Given the description of an element on the screen output the (x, y) to click on. 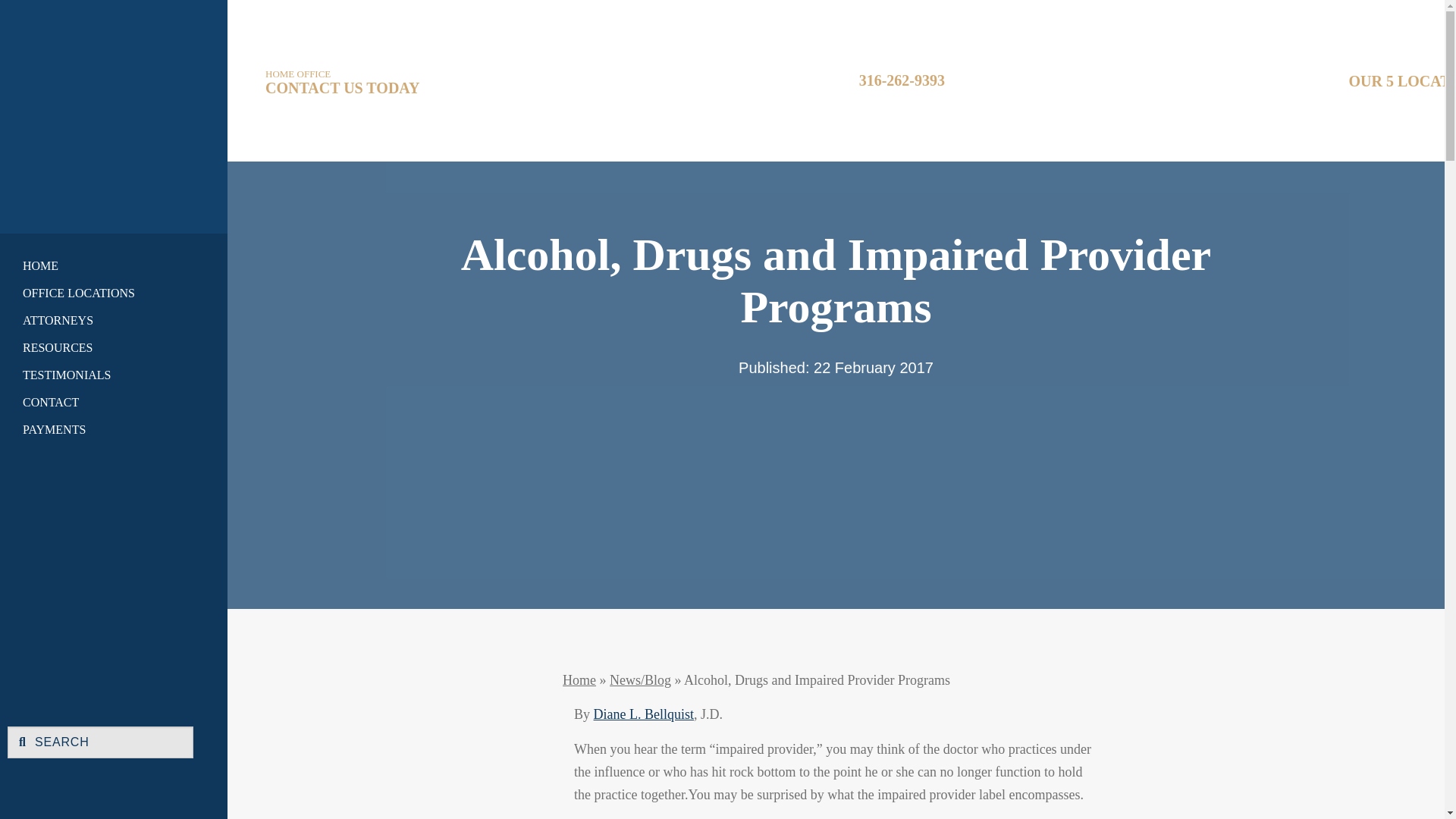
HOME (100, 265)
OFFICE LOCATIONS (100, 293)
Home (113, 110)
RESOURCES (100, 347)
ATTORNEYS (100, 320)
